Given the description of an element on the screen output the (x, y) to click on. 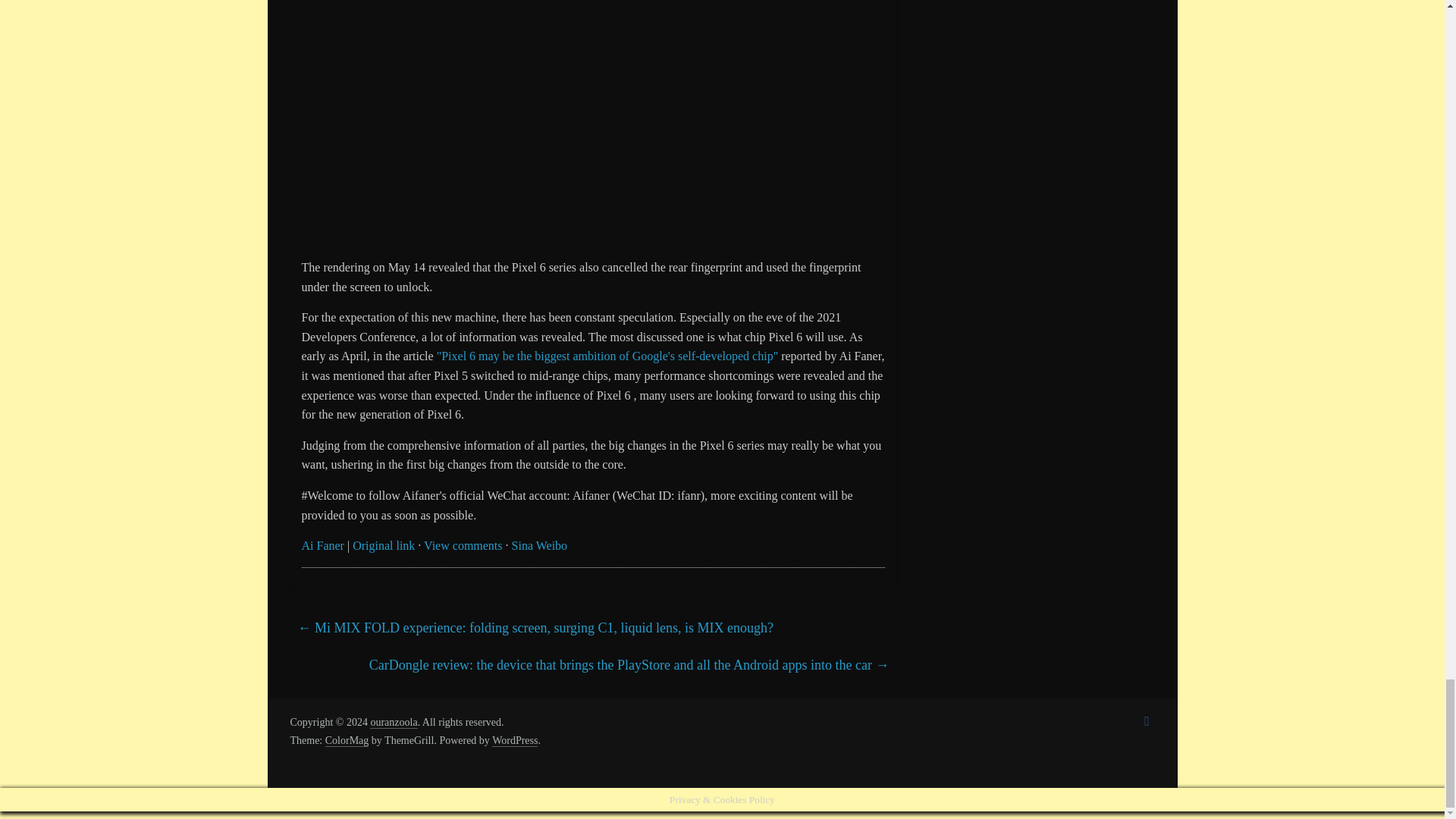
ouranzoola (392, 722)
Sina Weibo (539, 545)
Ai Faner (322, 545)
ouranzoola (392, 722)
Original link (383, 545)
View comments (462, 545)
